Given the description of an element on the screen output the (x, y) to click on. 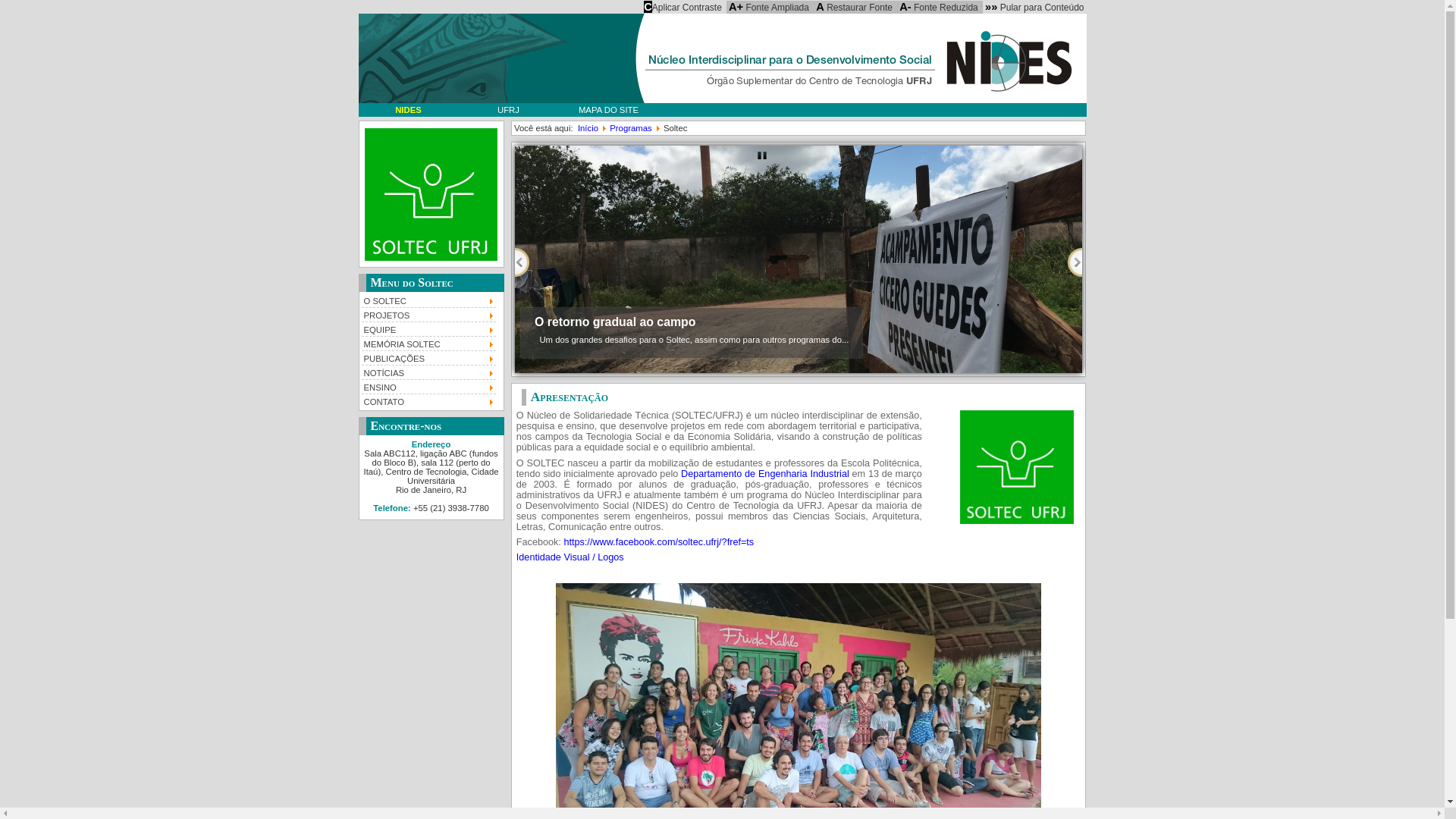
CONTATO Element type: text (427, 400)
CAplicar Contraste Element type: text (682, 6)
ENSINO Element type: text (427, 386)
O retorno gradual ao campo Element type: text (614, 314)
O SOLTEC Element type: text (427, 300)
A+ Fonte Ampliada Element type: text (768, 6)
Previous Element type: text (521, 261)
https://www.facebook.com/soltec.ufrj/?fref=ts Element type: text (658, 541)
Departamento de Engenharia Industrial Element type: text (764, 473)
PROJETOS Element type: text (427, 314)
A Restaurar Fonte Element type: text (853, 6)
Next Element type: text (1074, 261)
O retorno gradual ao campo Element type: hover (798, 259)
A- Fonte Reduzida Element type: text (938, 6)
Programas Element type: text (630, 127)
Identidade Visual / Logos Element type: text (570, 557)
UFRJ Element type: text (508, 109)
EQUIPE Element type: text (427, 328)
MAPA DO SITE Element type: text (608, 109)
NIDES Element type: text (407, 109)
